Given the description of an element on the screen output the (x, y) to click on. 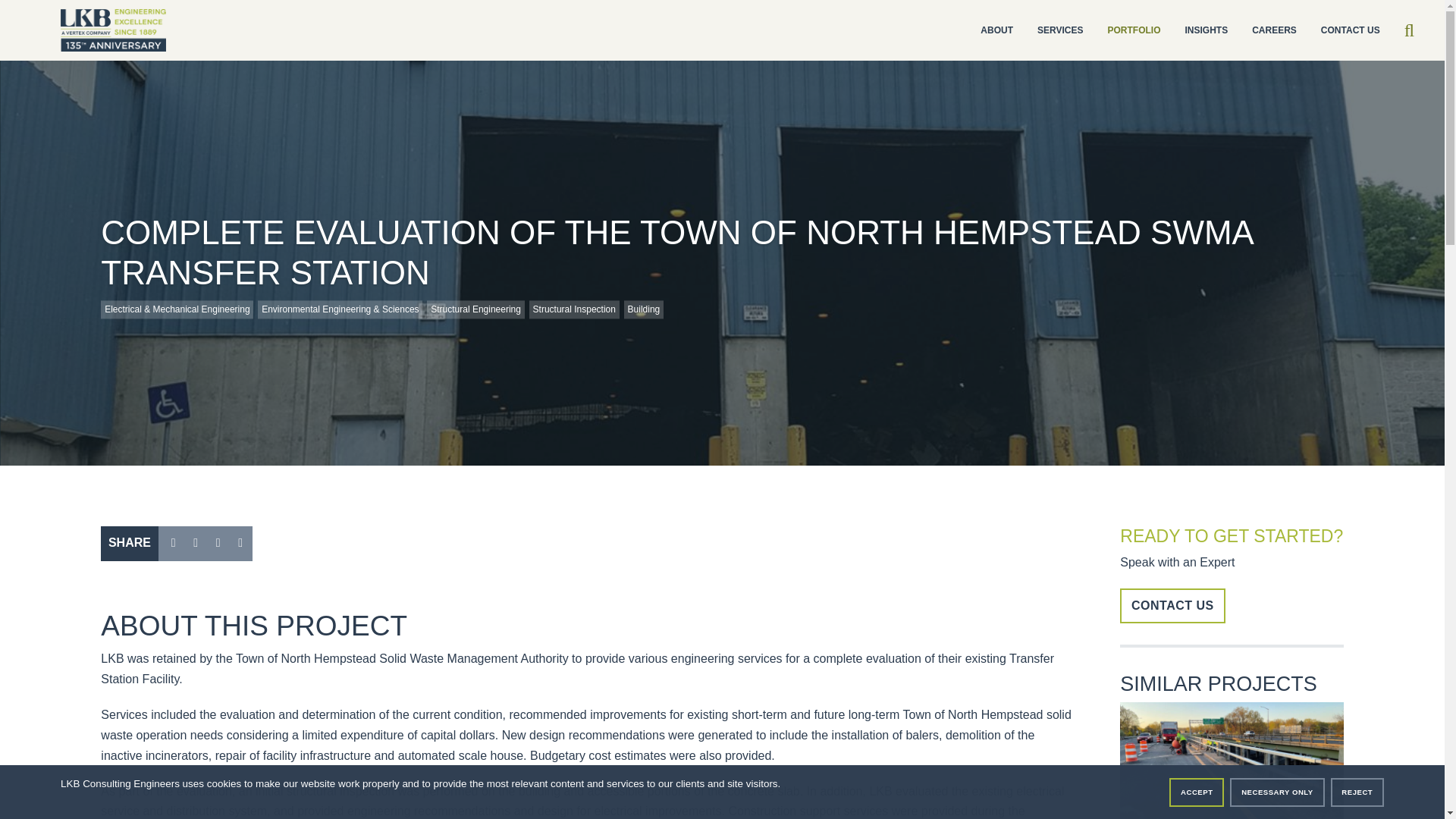
INSIGHTS (1206, 30)
Tweet (173, 543)
SERVICES (1059, 30)
CONTACT US (1350, 30)
ABOUT (996, 30)
Send email (241, 543)
Share on LinkedIn (217, 543)
CAREERS (1274, 30)
PORTFOLIO (1133, 30)
LKB Consulting Engineers (113, 30)
Share on Facebook (195, 543)
